Given the description of an element on the screen output the (x, y) to click on. 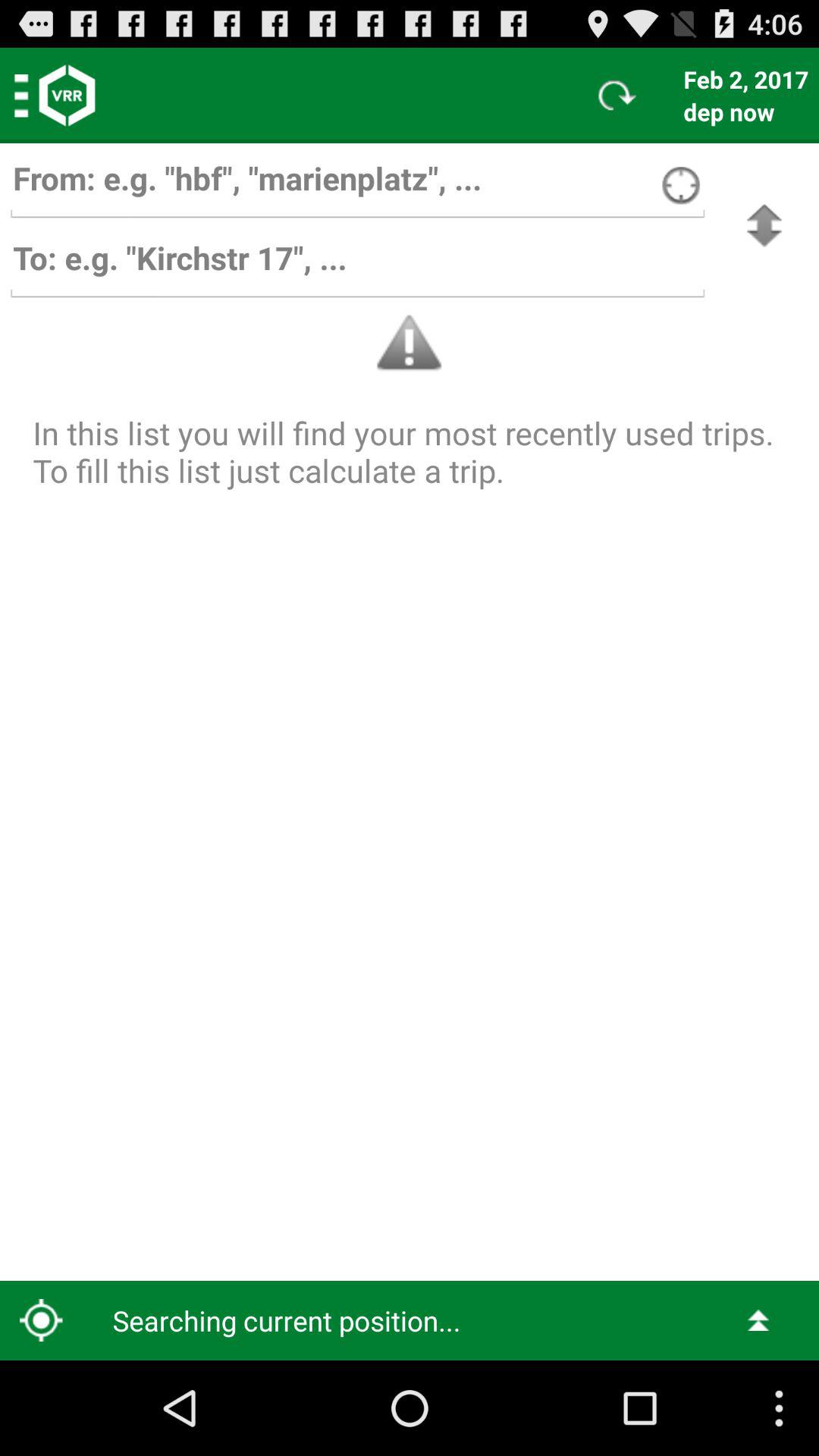
enter destination (357, 265)
